Given the description of an element on the screen output the (x, y) to click on. 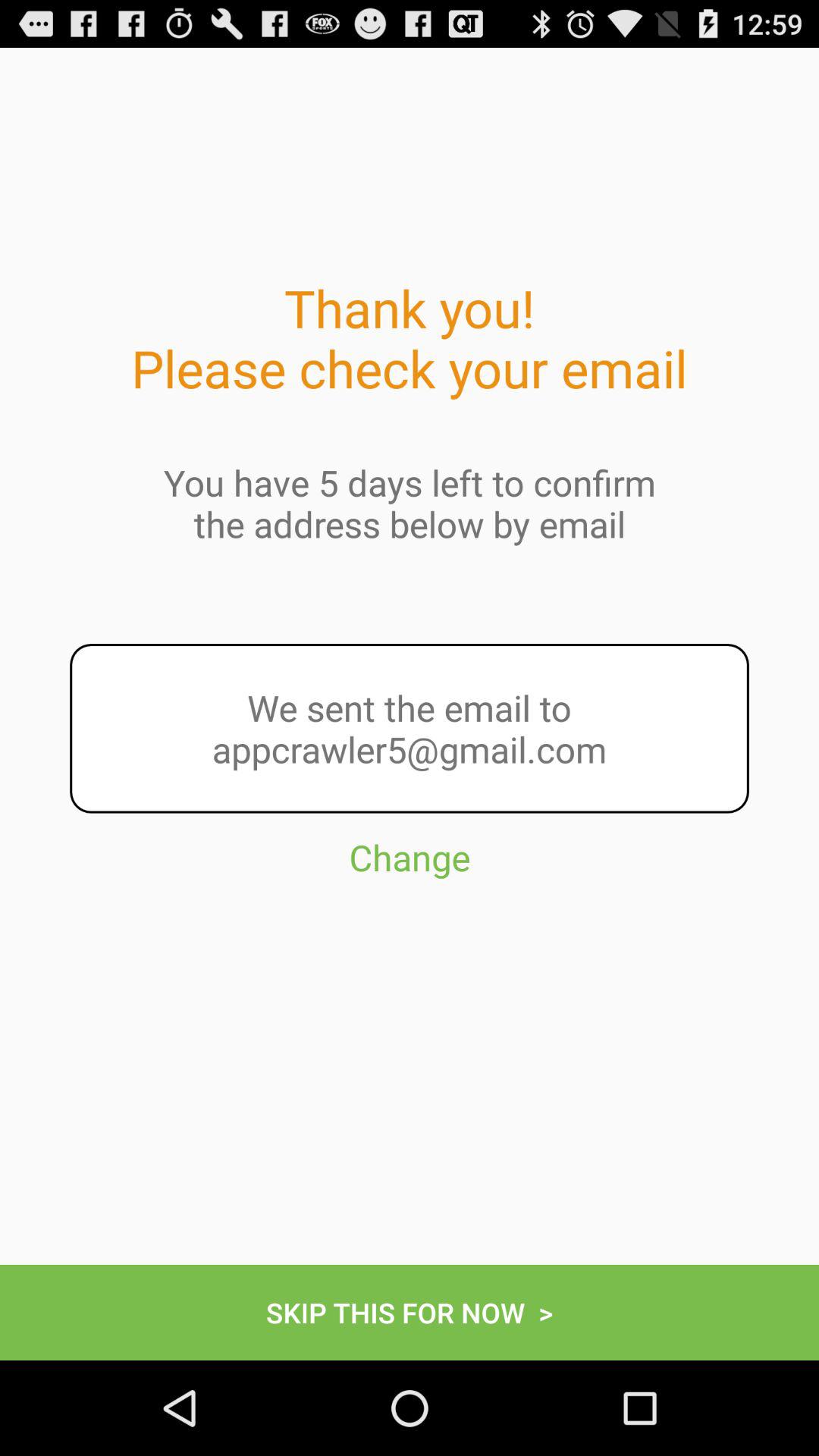
swipe to skip this for (409, 1312)
